Given the description of an element on the screen output the (x, y) to click on. 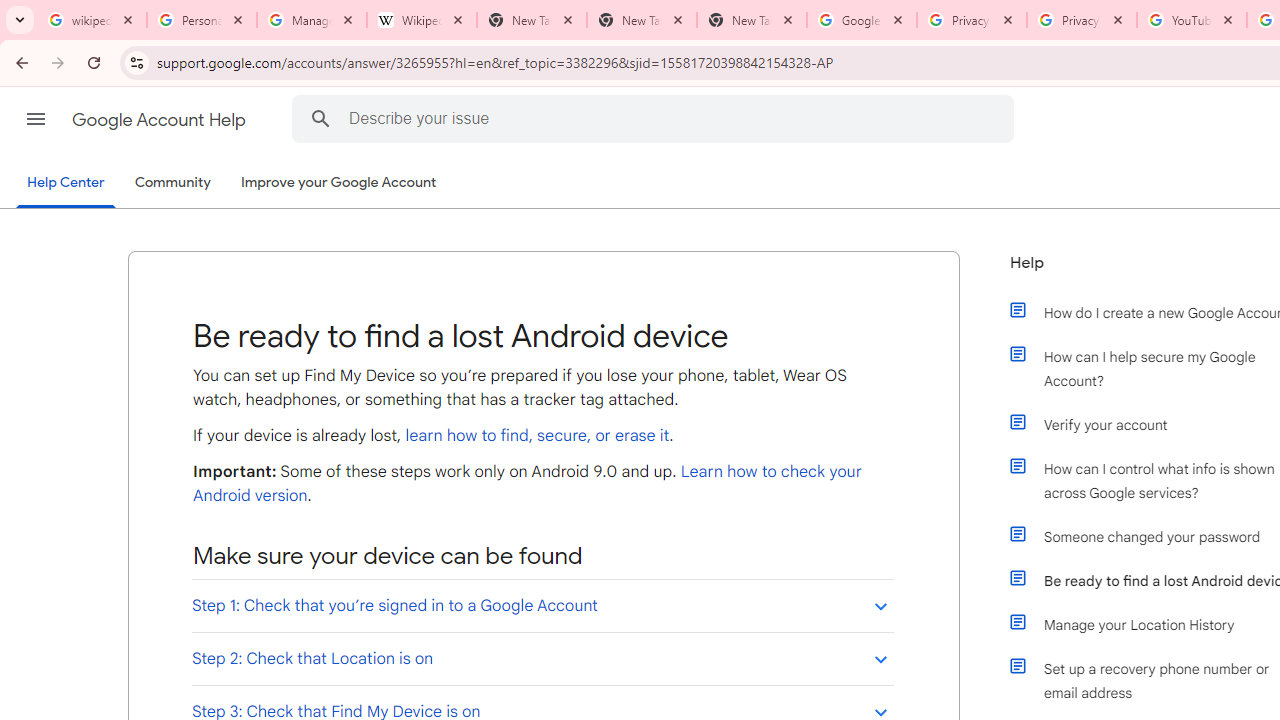
Main menu (35, 119)
Search Help Center (320, 118)
Manage your Location History - Google Search Help (312, 20)
Improve your Google Account (339, 183)
learn how to find, secure, or erase it (536, 435)
Personalization & Google Search results - Google Search Help (202, 20)
Help Center (65, 183)
Learn how to check your Android version (527, 484)
